Given the description of an element on the screen output the (x, y) to click on. 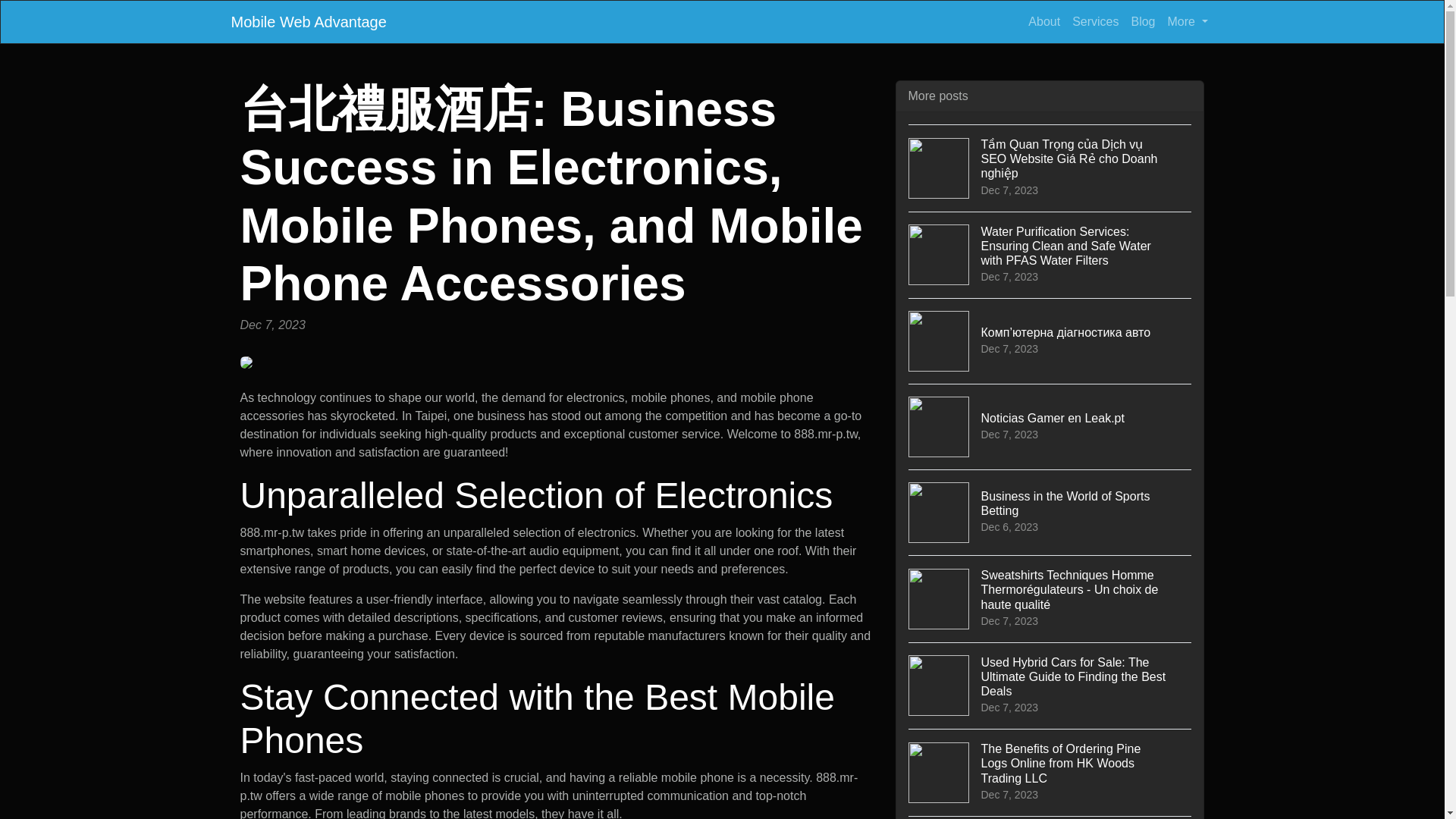
Services (1094, 21)
More (1187, 21)
About (1050, 426)
Blog (1043, 21)
Mobile Web Advantage (1142, 21)
